Given the description of an element on the screen output the (x, y) to click on. 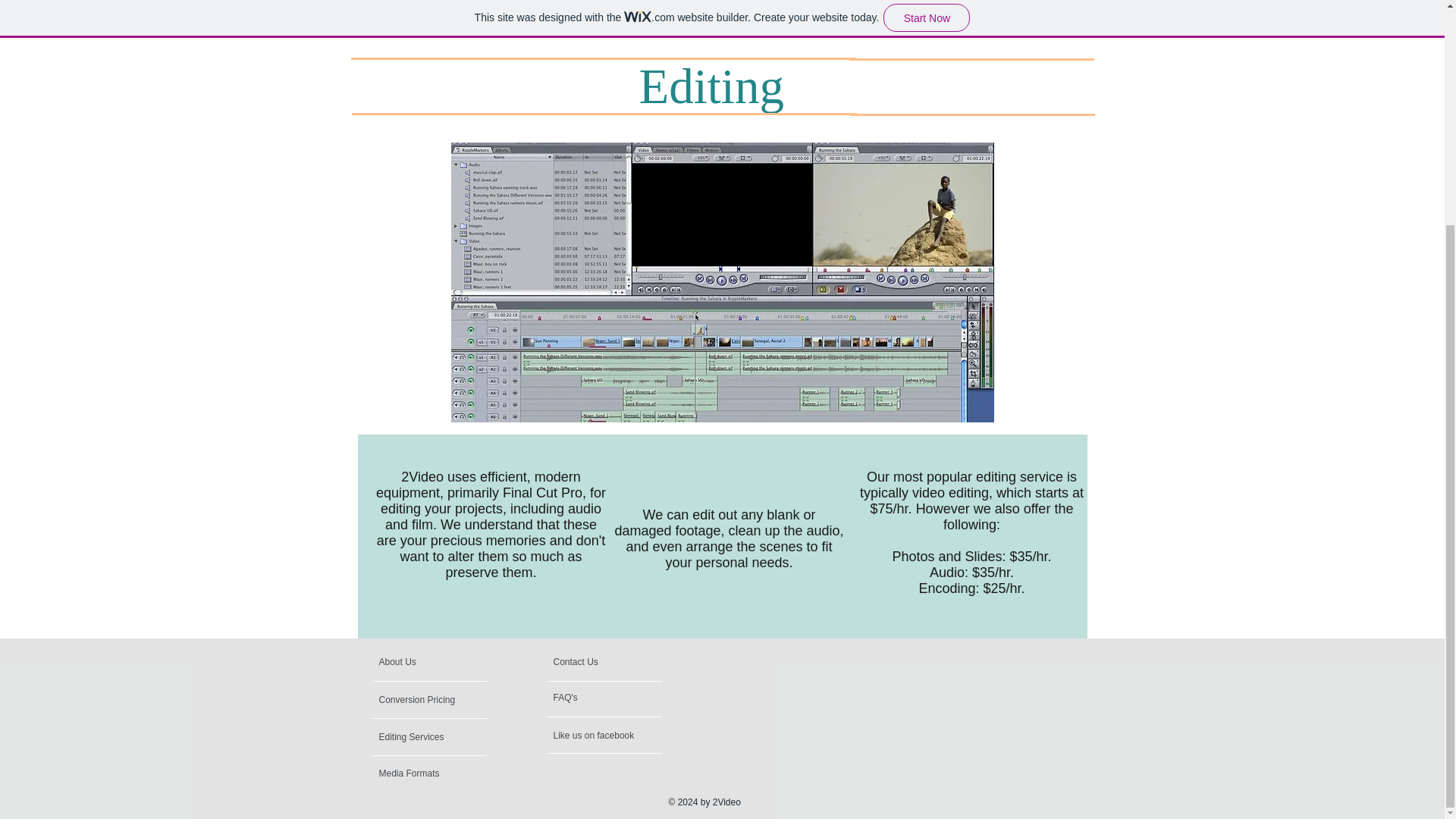
FAQ's (638, 697)
Like us on facebook (637, 735)
About Us (436, 662)
Contact Us (599, 662)
Conversion Pricing (418, 700)
Media Formats (409, 773)
Editing Services (462, 737)
